Given the description of an element on the screen output the (x, y) to click on. 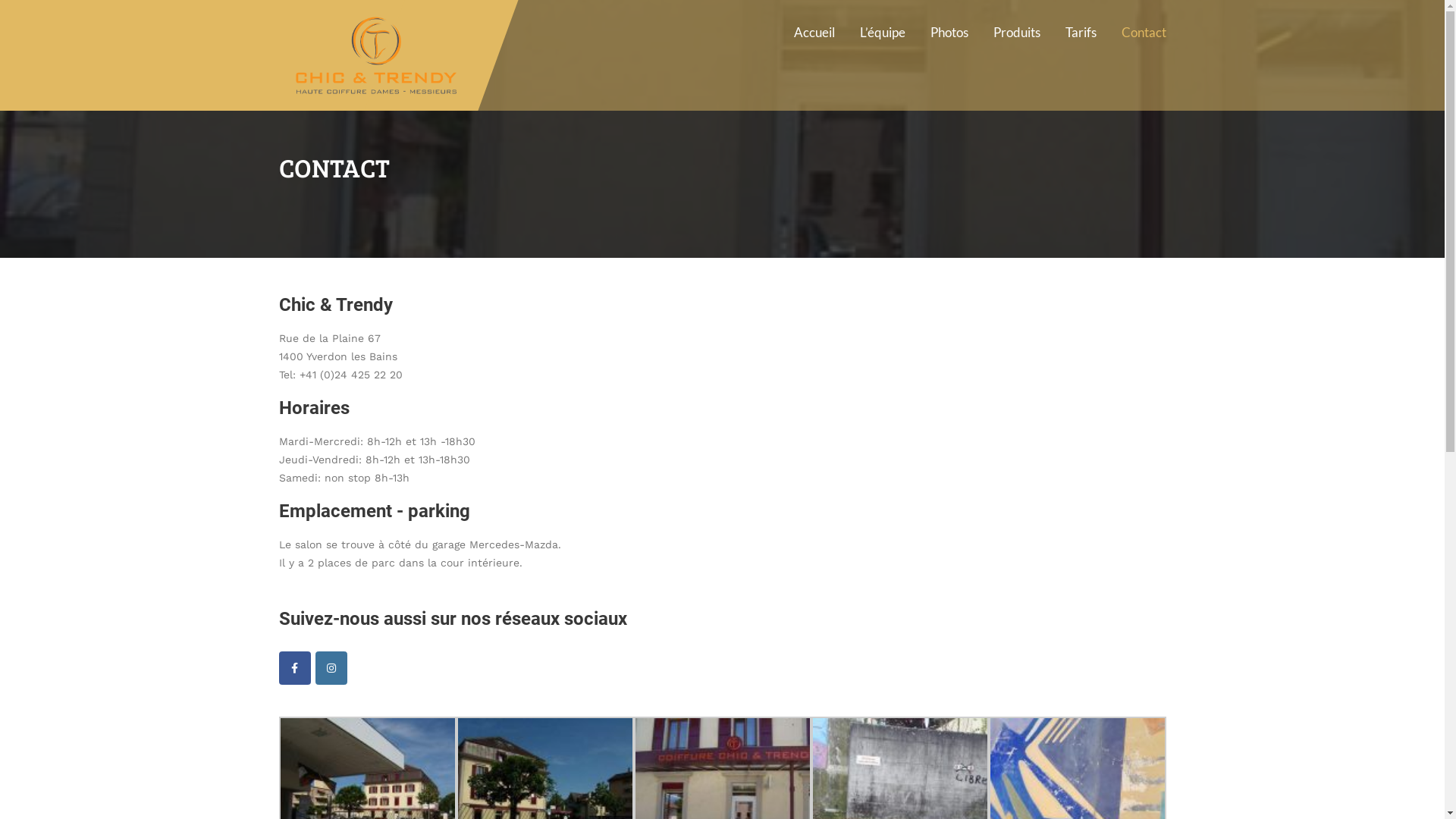
Tarifs Element type: text (1080, 32)
Photos Element type: text (949, 32)
Accueil Element type: text (814, 32)
Contact Element type: text (1143, 32)
Produits Element type: text (1016, 32)
https://www.instagram.com/sandrinejeanmonod/ Element type: hover (331, 667)
